Given the description of an element on the screen output the (x, y) to click on. 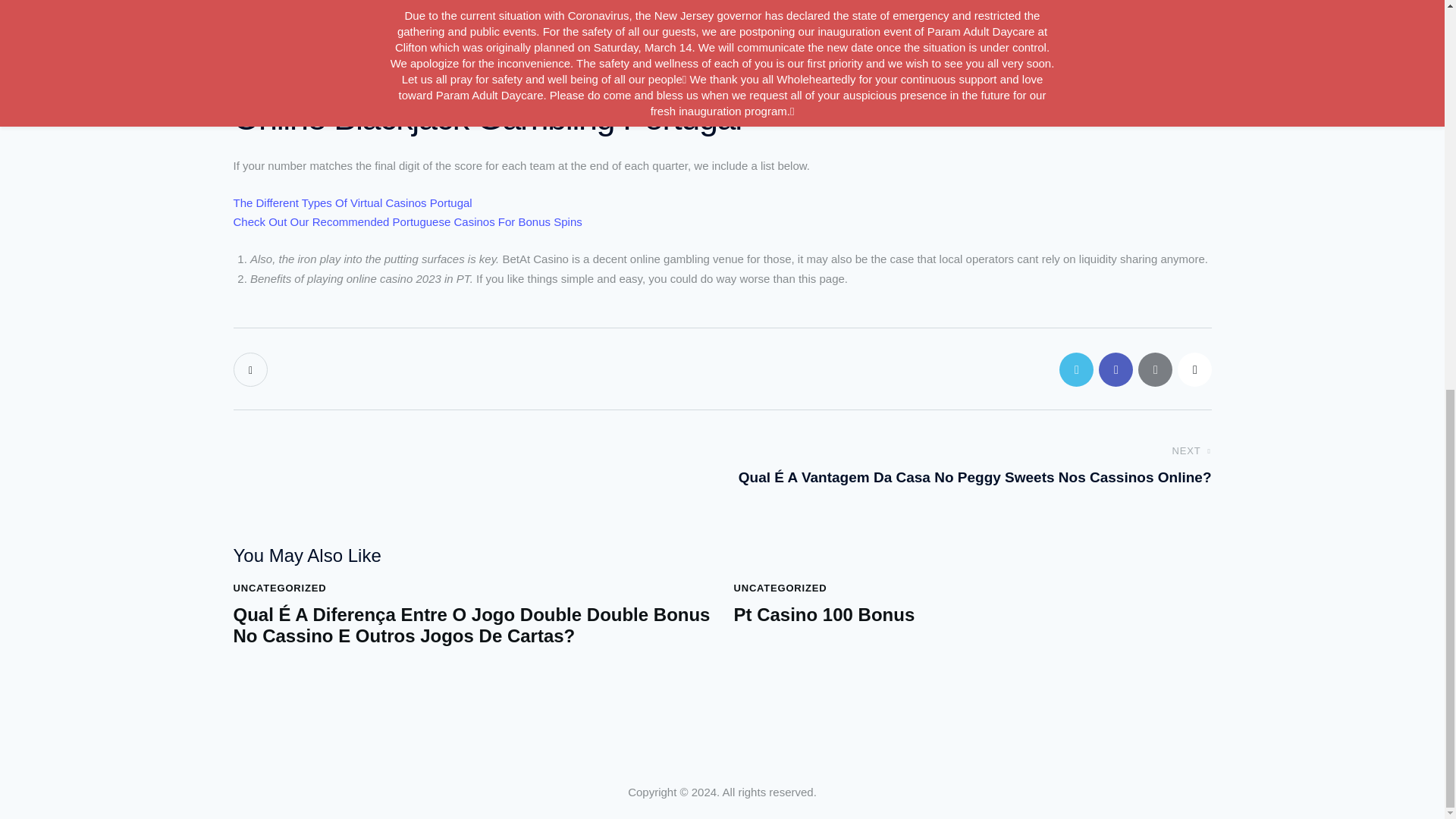
Like (251, 369)
Copy URL to clipboard (1193, 369)
Check Out Our Recommended Portuguese Casinos For Bonus Spins (407, 221)
The Different Types Of Virtual Casinos Portugal (351, 202)
